Given the description of an element on the screen output the (x, y) to click on. 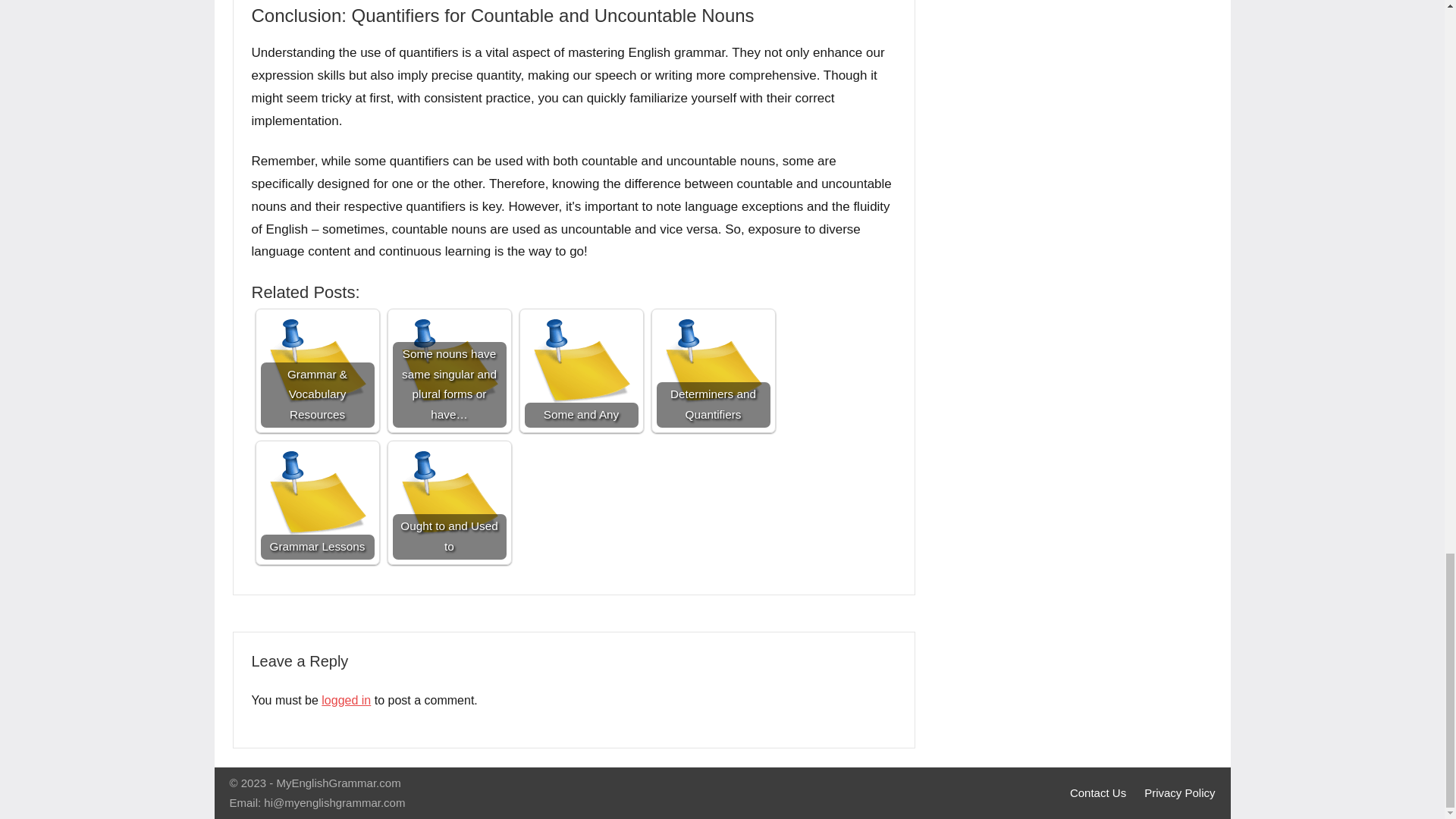
Determiners and Quantifiers (713, 370)
Privacy Policy (1169, 793)
Grammar Lessons (317, 502)
Determiners and Quantifiers (713, 370)
Grammar Lessons (317, 502)
logged in (346, 699)
Some and Any (581, 370)
Contact Us (1088, 793)
Ought to and Used to (449, 502)
Some and Any (581, 370)
